Given the description of an element on the screen output the (x, y) to click on. 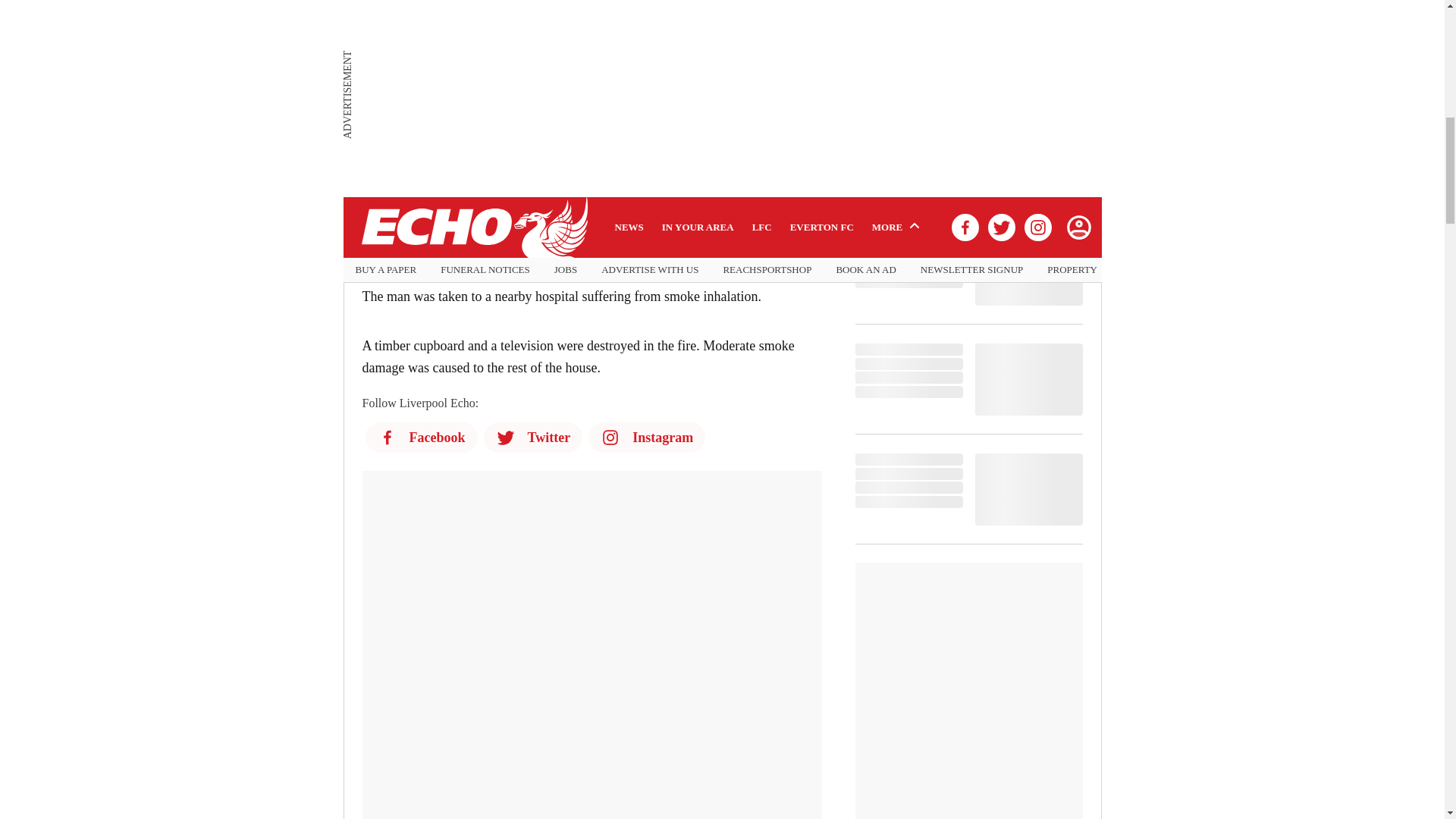
Twitter (533, 437)
Instagram (646, 437)
Facebook (421, 437)
